Given the description of an element on the screen output the (x, y) to click on. 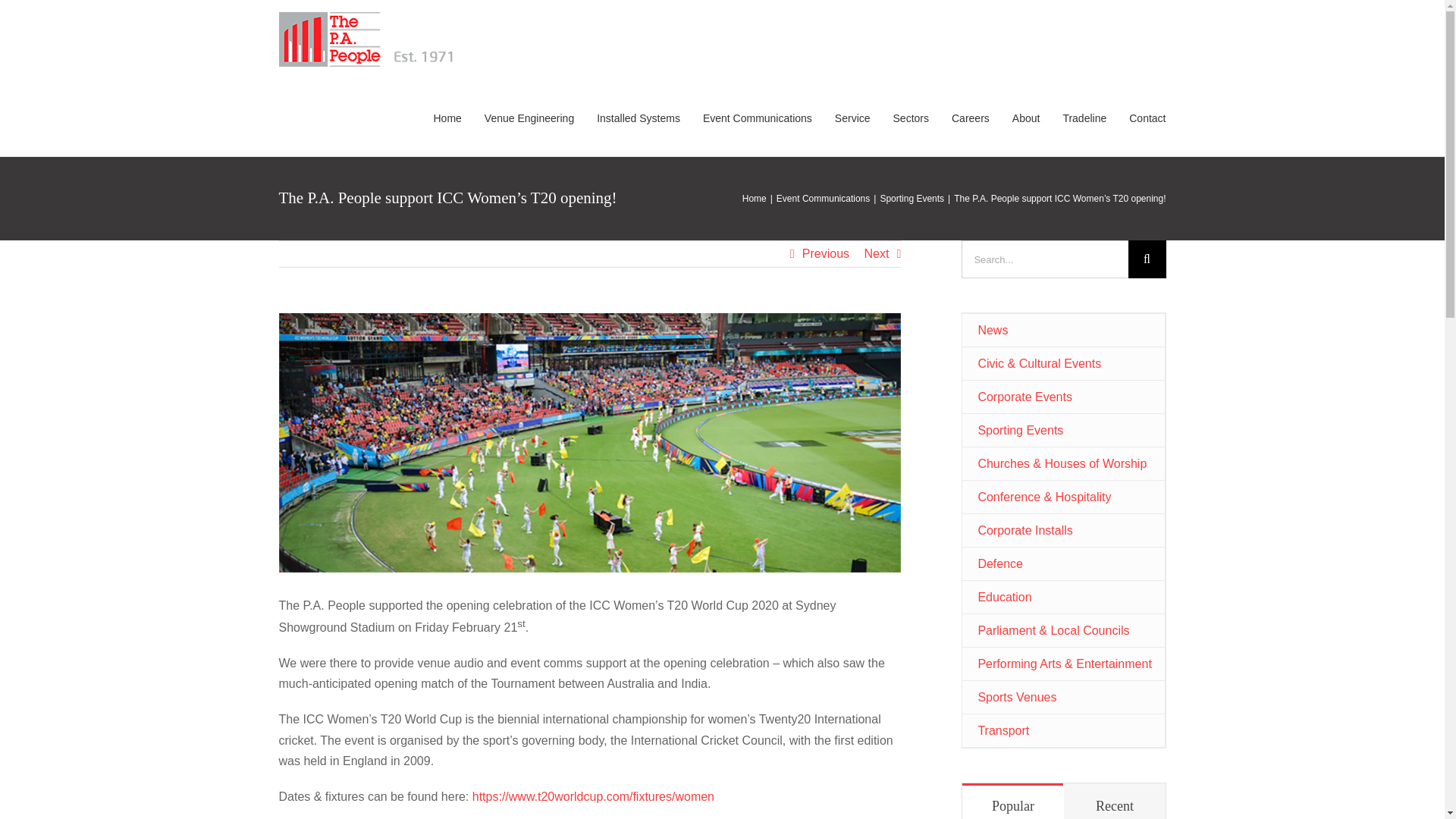
Venue Engineering (528, 116)
Installed Systems (637, 116)
Event Communications (757, 116)
